Given the description of an element on the screen output the (x, y) to click on. 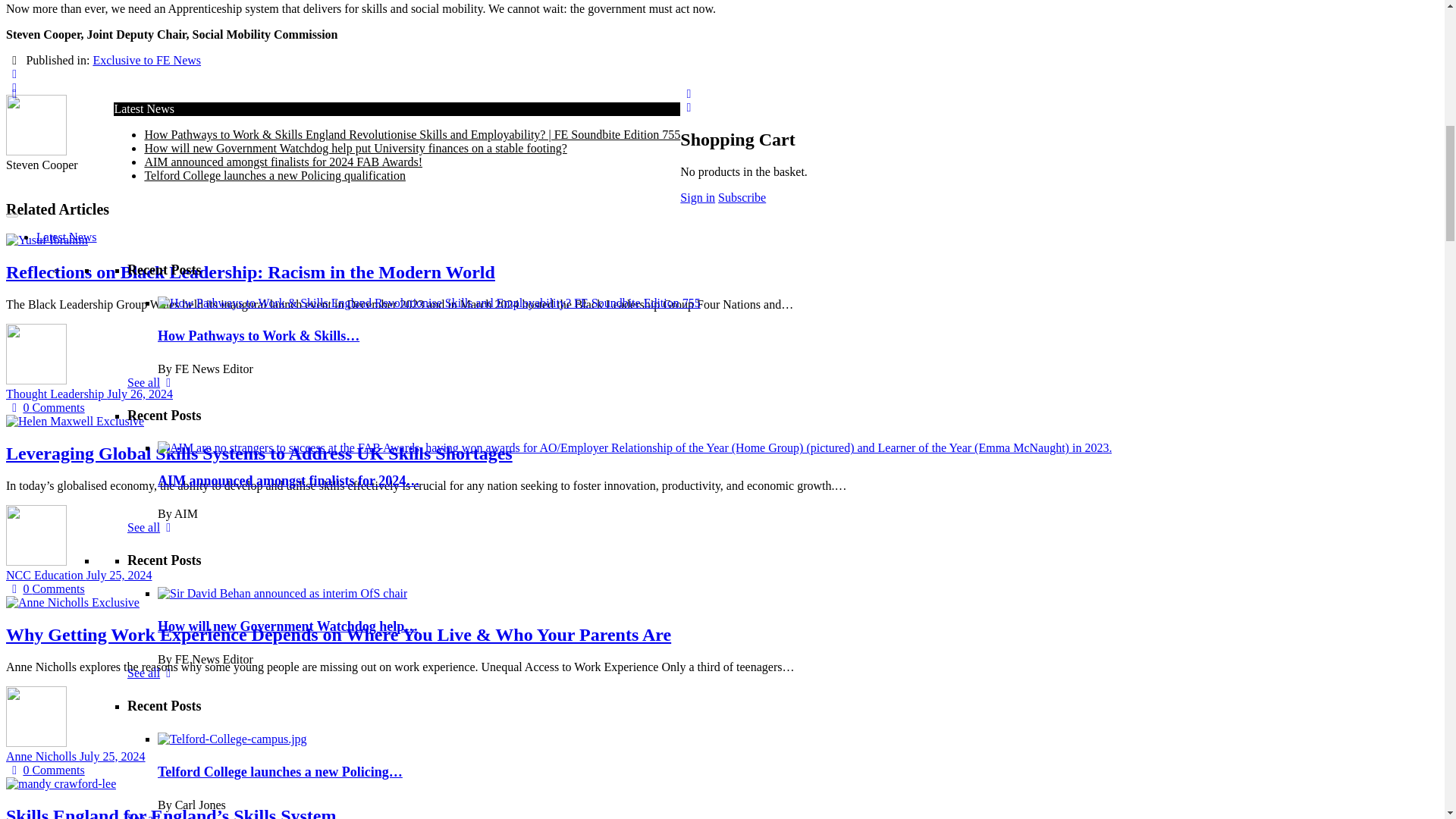
Sign in (240, 127)
Exclusives (62, 141)
See all (152, 431)
EdTech - News on Education Technology (228, 59)
See all (152, 286)
Subscribe (166, 127)
Skills and Apprenticeships - News and Insights (242, 100)
See all (152, 2)
Work and leadership (177, 86)
